Given the description of an element on the screen output the (x, y) to click on. 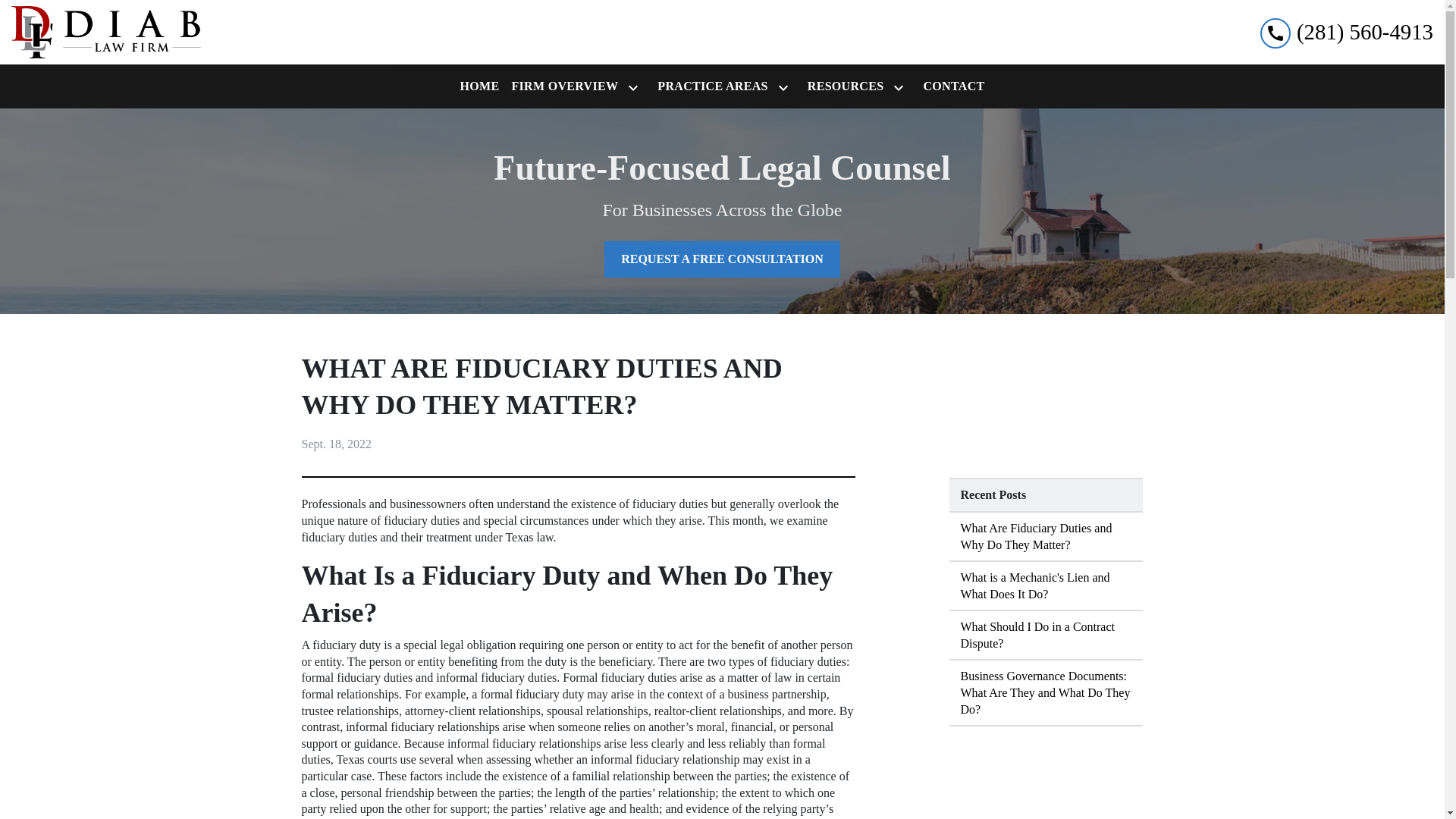
REQUEST A FREE CONSULTATION (722, 258)
FIRM OVERVIEW (561, 86)
What is a Mechanic's Lien and What Does It Do? (1045, 585)
HOME (478, 86)
What Are Fiduciary Duties and Why Do They Matter? (1045, 536)
PRACTICE AREAS (708, 86)
CONTACT (953, 86)
What Should I Do in a Contract Dispute? (1045, 635)
RESOURCES (842, 86)
